Given the description of an element on the screen output the (x, y) to click on. 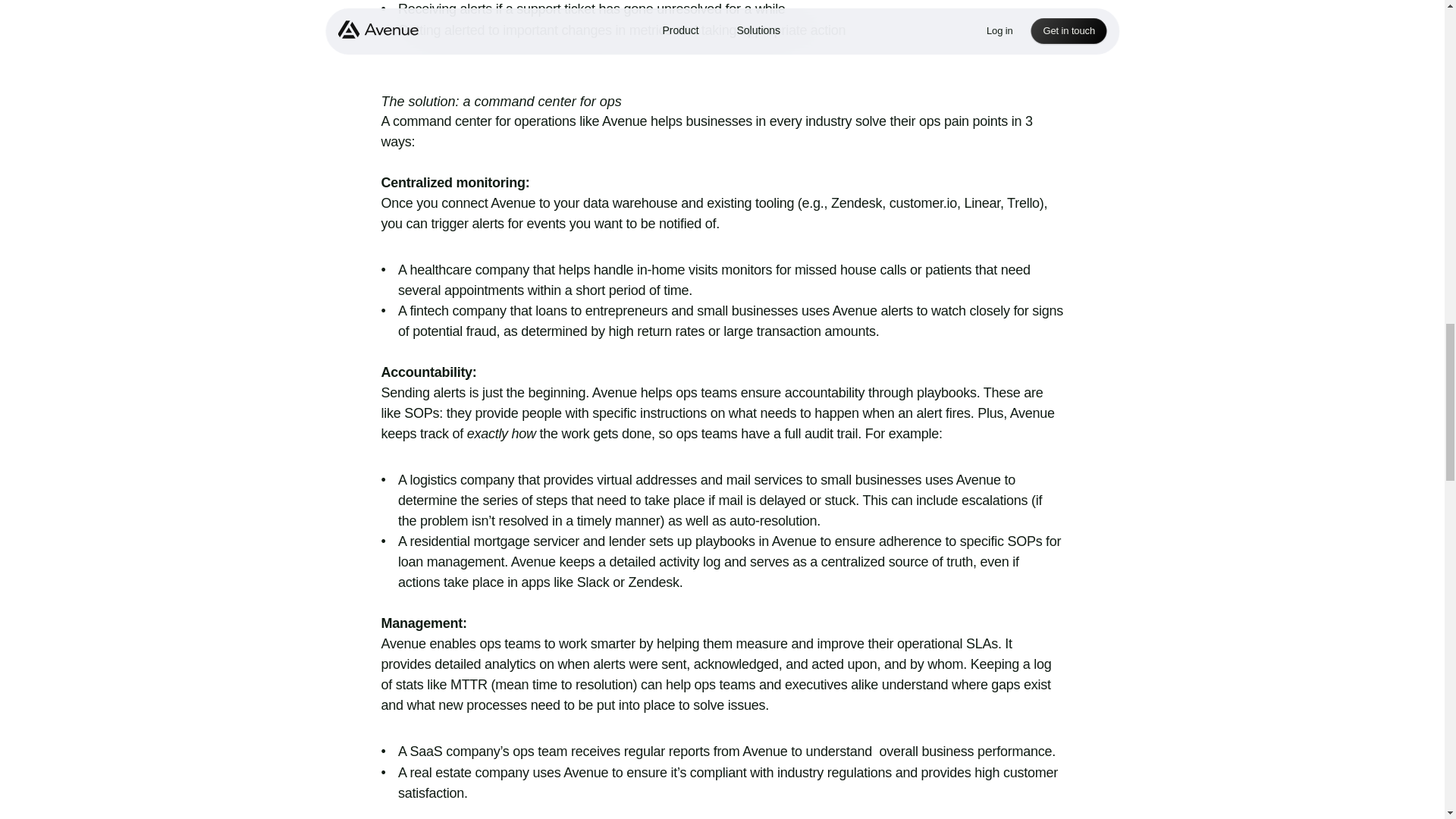
customer.io (922, 202)
